Given the description of an element on the screen output the (x, y) to click on. 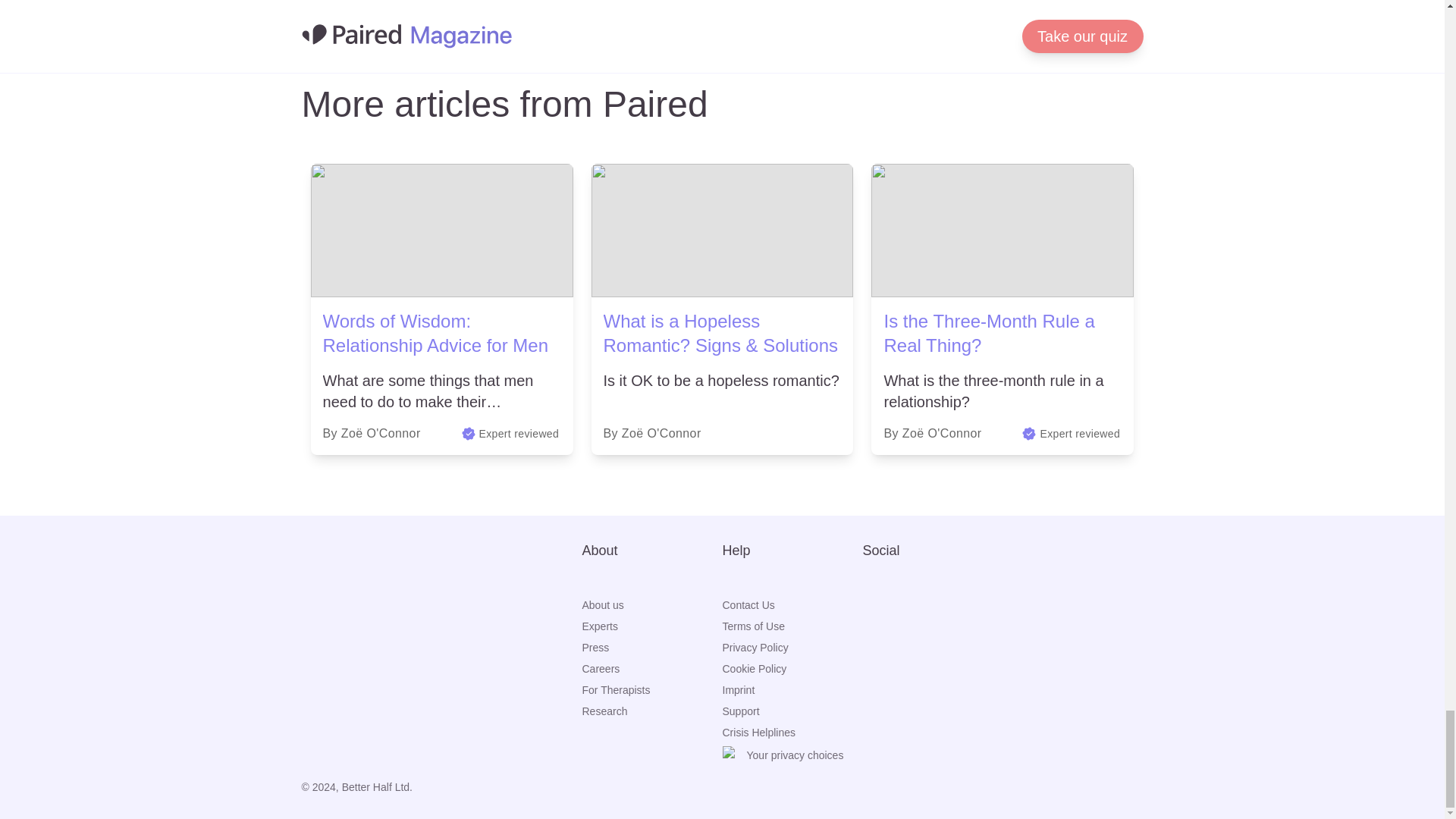
Terms of Use (791, 626)
About us (652, 604)
Imprint (791, 689)
Experts (652, 626)
Crisis Helplines (791, 732)
Press (652, 647)
Support (791, 711)
Careers (652, 668)
Privacy Policy (791, 647)
Cookie Policy (791, 668)
Research (652, 711)
Contact Us (791, 604)
For Therapists (652, 689)
